Given the description of an element on the screen output the (x, y) to click on. 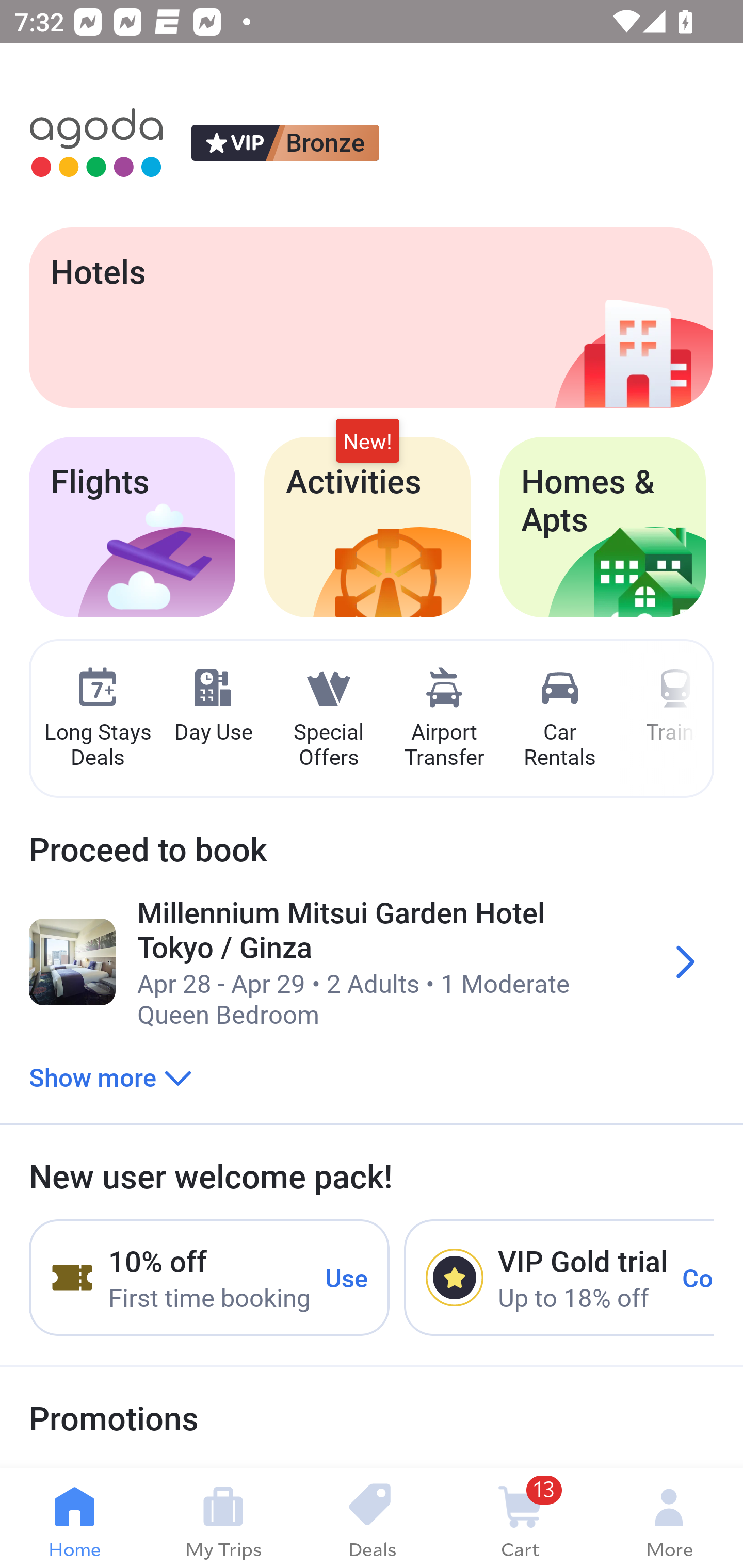
Hotels (370, 317)
New! (367, 441)
Flights (131, 527)
Activities (367, 527)
Homes & Apts (602, 527)
Day Use (213, 706)
Long Stays Deals (97, 718)
Special Offers (328, 718)
Airport Transfer (444, 718)
Car Rentals (559, 718)
Show more (110, 1076)
Use (346, 1277)
Home (74, 1518)
My Trips (222, 1518)
Deals (371, 1518)
13 Cart (519, 1518)
More (668, 1518)
